Given the description of an element on the screen output the (x, y) to click on. 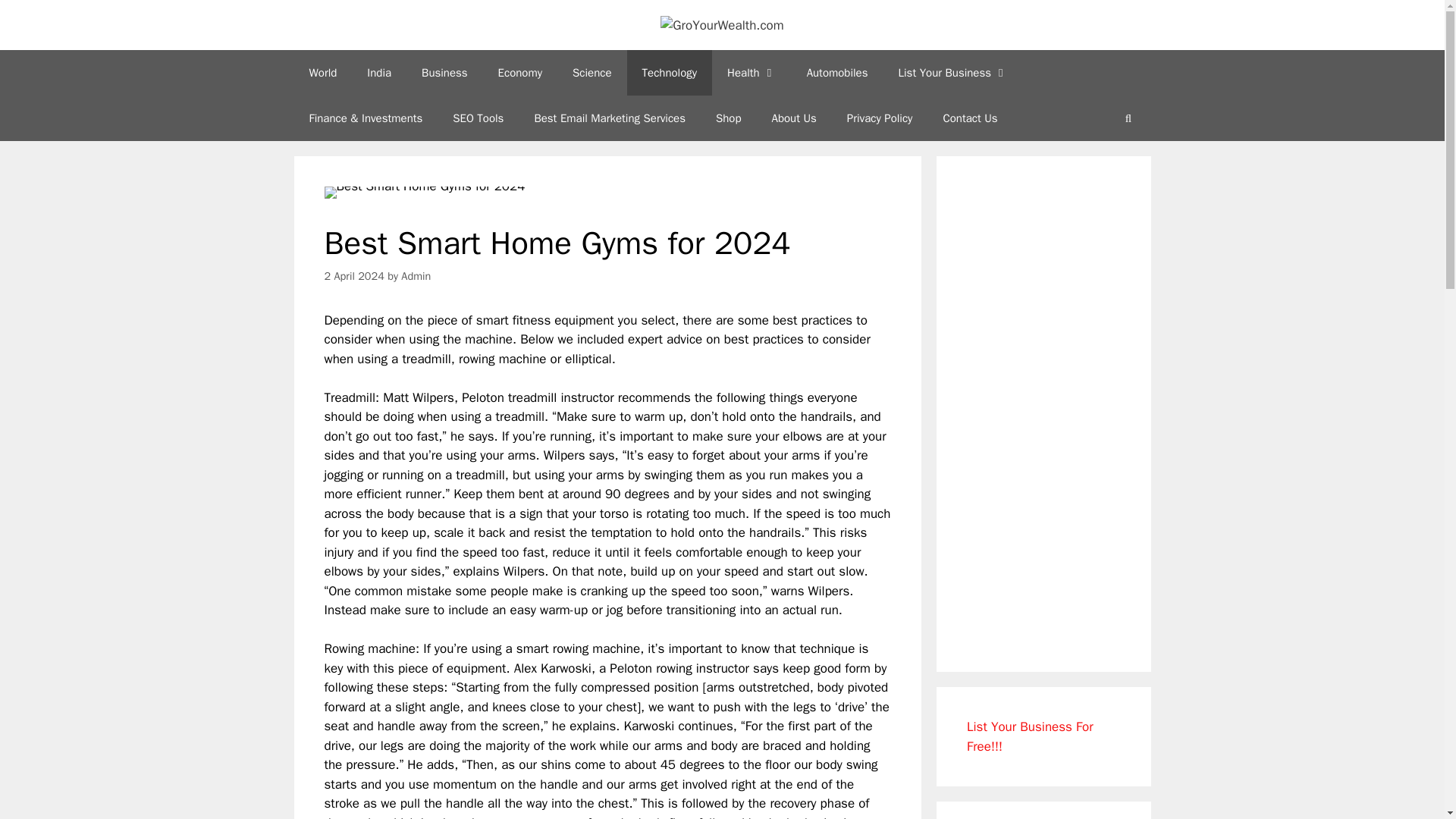
Best Email Marketing Services (609, 117)
Shop (728, 117)
List Your Business (952, 72)
Automobiles (837, 72)
Science (592, 72)
Admin (415, 275)
Business (444, 72)
World (323, 72)
SEO Tools (478, 117)
Economy (520, 72)
Health (751, 72)
About Us (794, 117)
Privacy Policy (879, 117)
View all posts by Admin (415, 275)
Technology (670, 72)
